Given the description of an element on the screen output the (x, y) to click on. 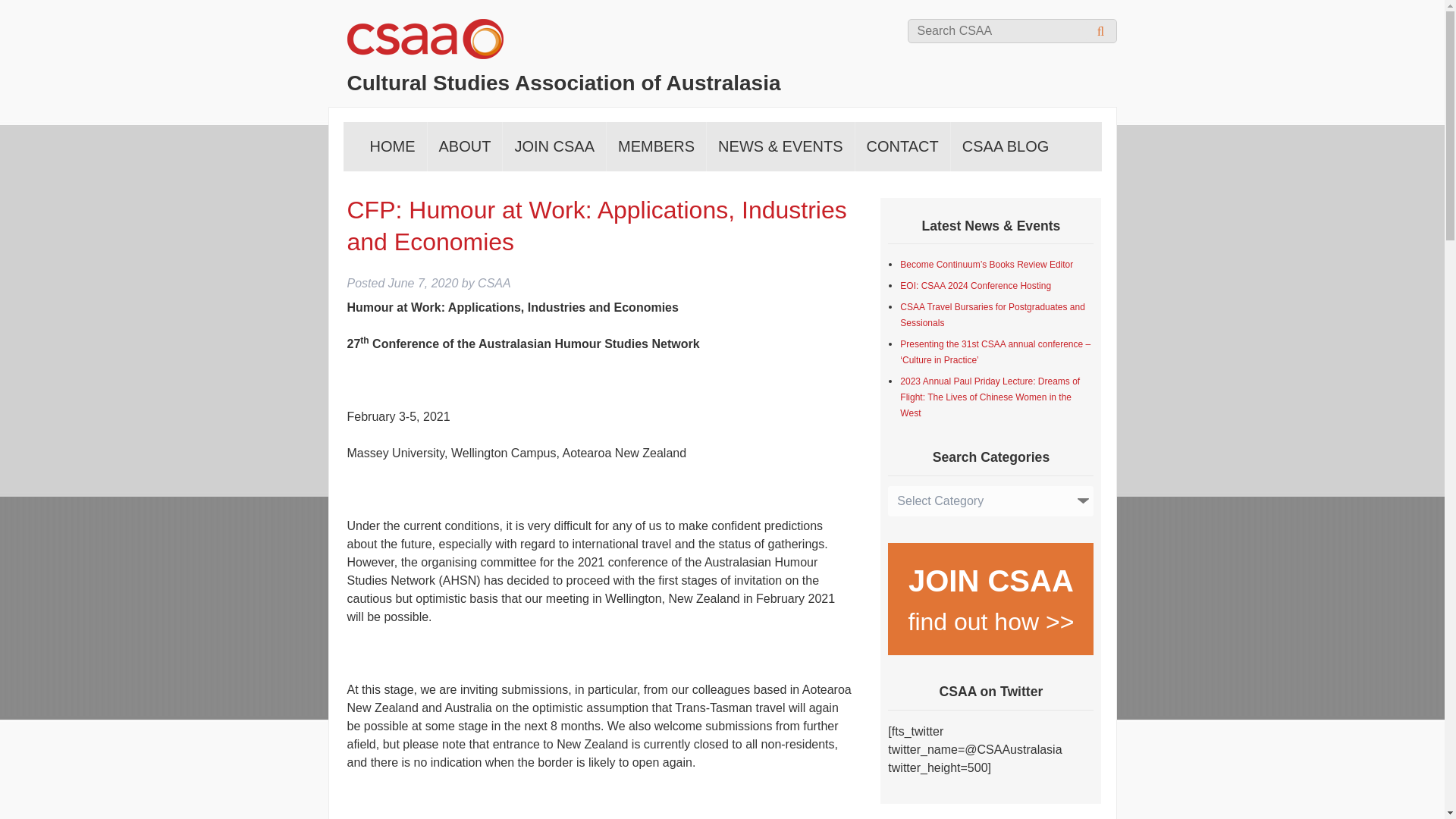
CSAA BLOG (1005, 146)
MEMBERS (656, 146)
EOI: CSAA 2024 Conference Hosting (975, 285)
Search for: (1011, 30)
HOME (392, 146)
ABOUT (465, 146)
CONTACT (903, 146)
JOIN CSAA (553, 146)
CSAA Travel Bursaries for Postgraduates and Sessionals (991, 315)
